Given the description of an element on the screen output the (x, y) to click on. 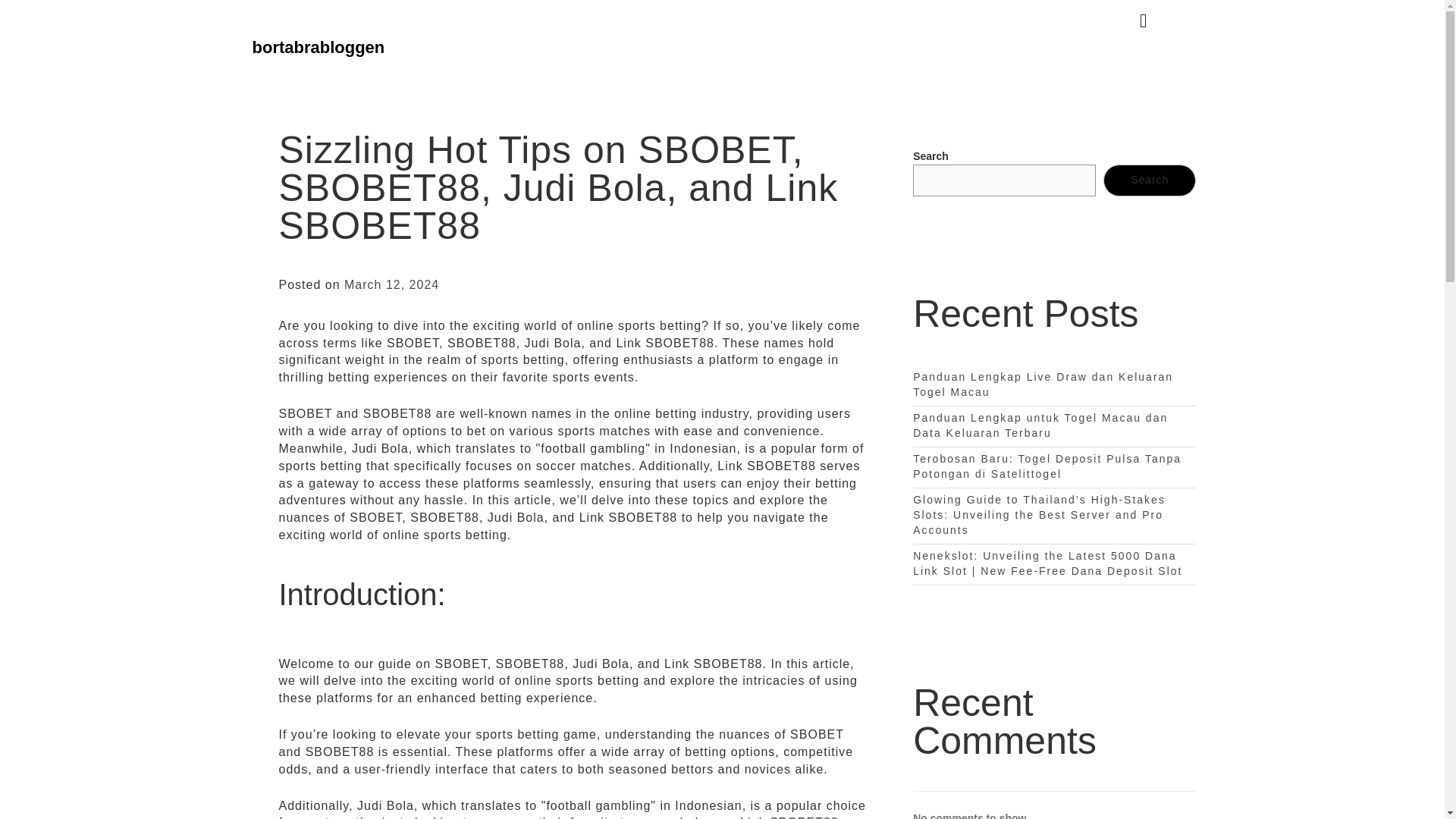
March 12, 2024 (391, 284)
bortabrabloggen (317, 46)
Panduan Lengkap untuk Togel Macau dan Data Keluaran Terbaru (1039, 424)
Search (1149, 180)
Panduan Lengkap Live Draw dan Keluaran Togel Macau (1042, 384)
